Given the description of an element on the screen output the (x, y) to click on. 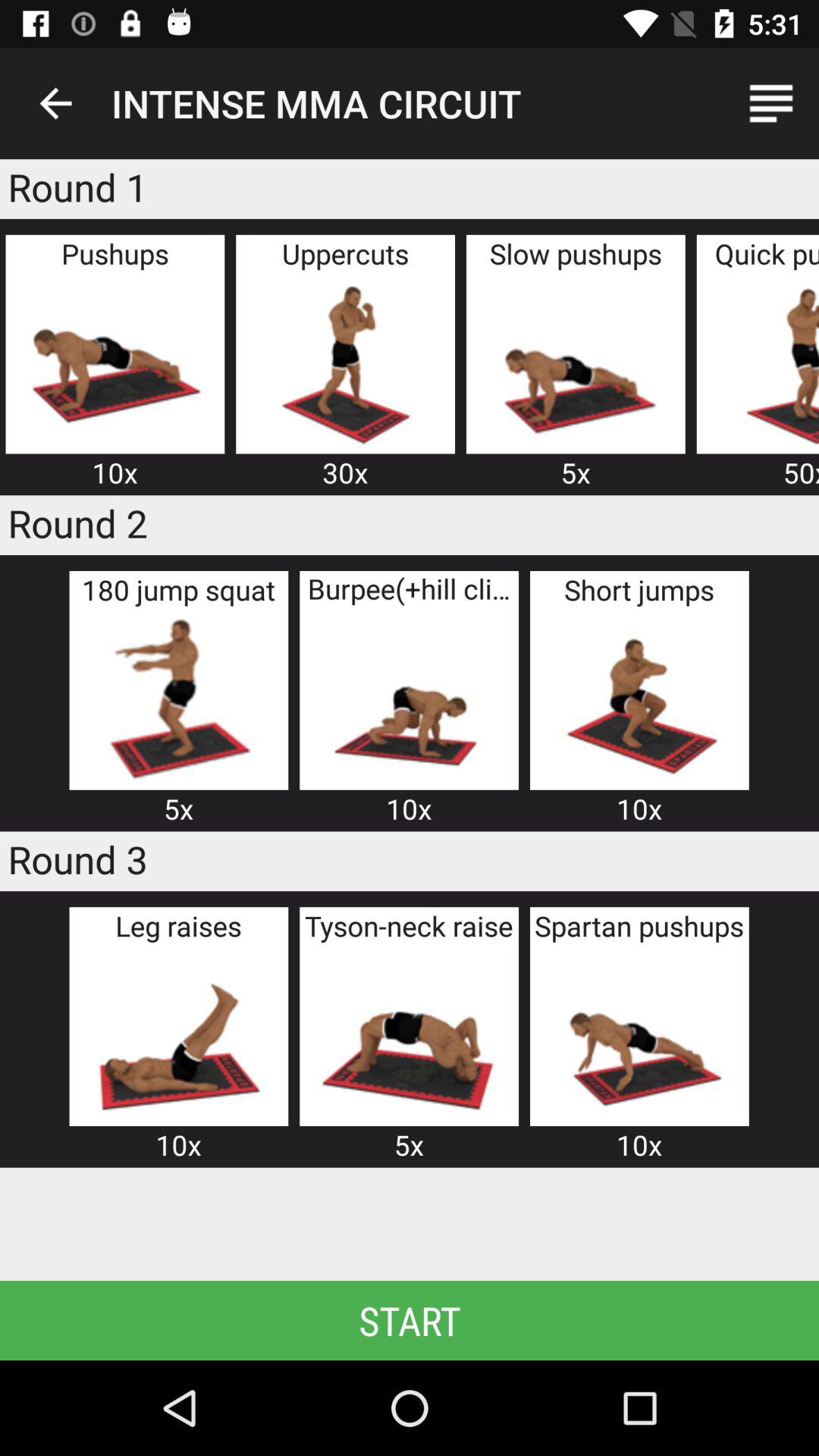
select option (114, 362)
